Given the description of an element on the screen output the (x, y) to click on. 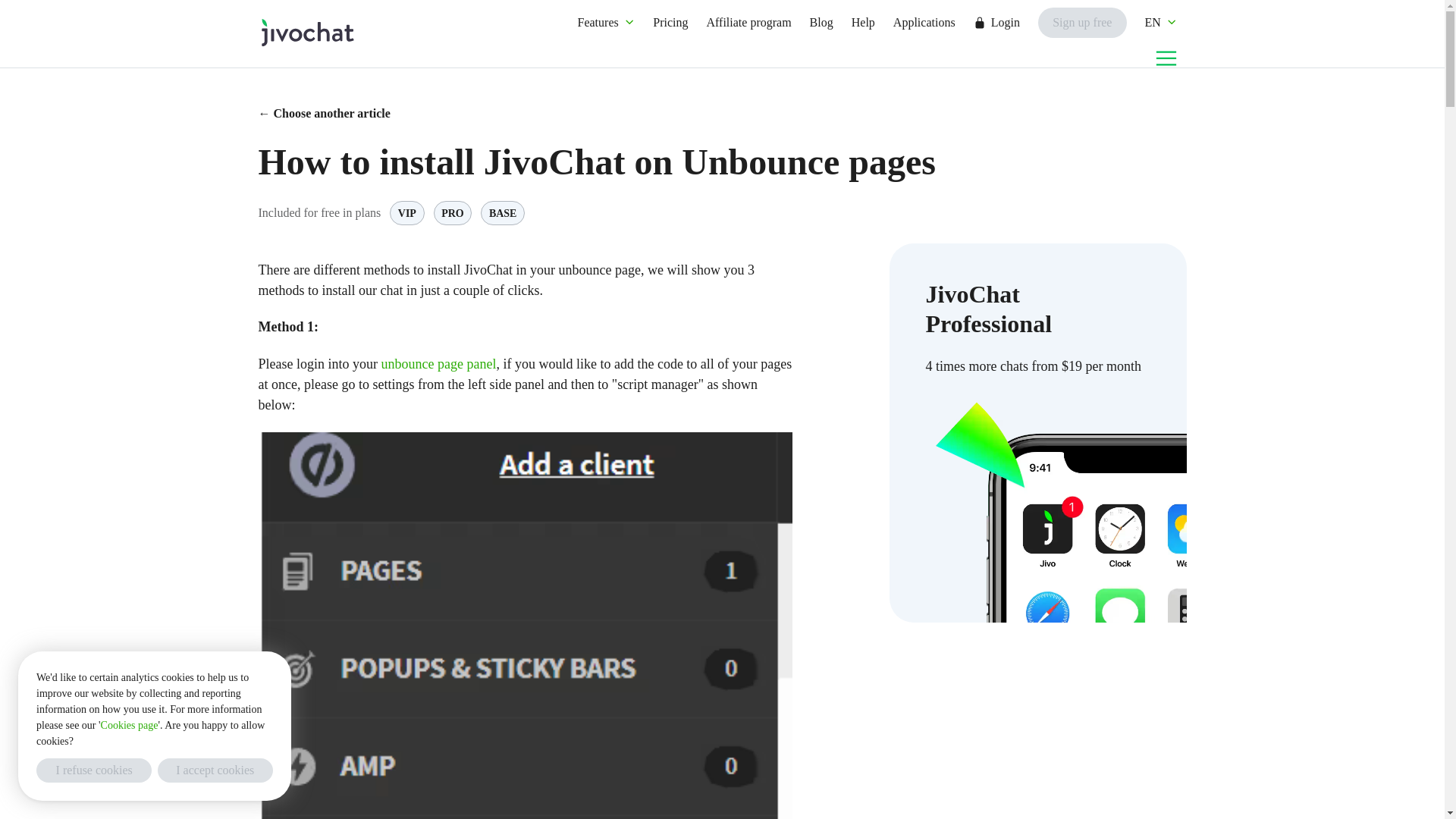
Blog (820, 21)
Sign up free (1082, 21)
Affiliate program (749, 21)
Pricing (669, 21)
Help (863, 21)
Login (997, 21)
Sign up free (1082, 22)
Applications (924, 21)
